Given the description of an element on the screen output the (x, y) to click on. 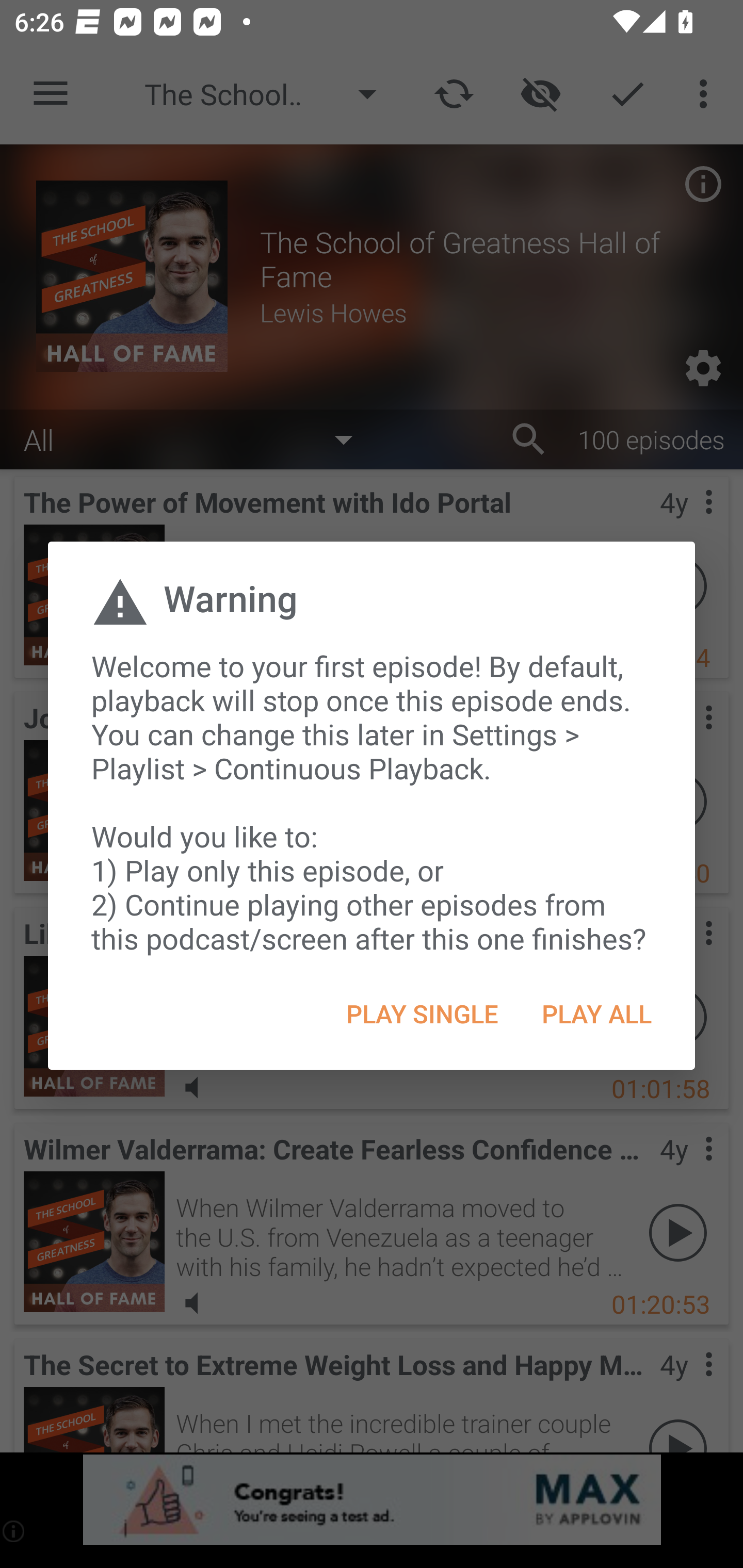
PLAY SINGLE (422, 1013)
PLAY ALL (596, 1013)
